Given the description of an element on the screen output the (x, y) to click on. 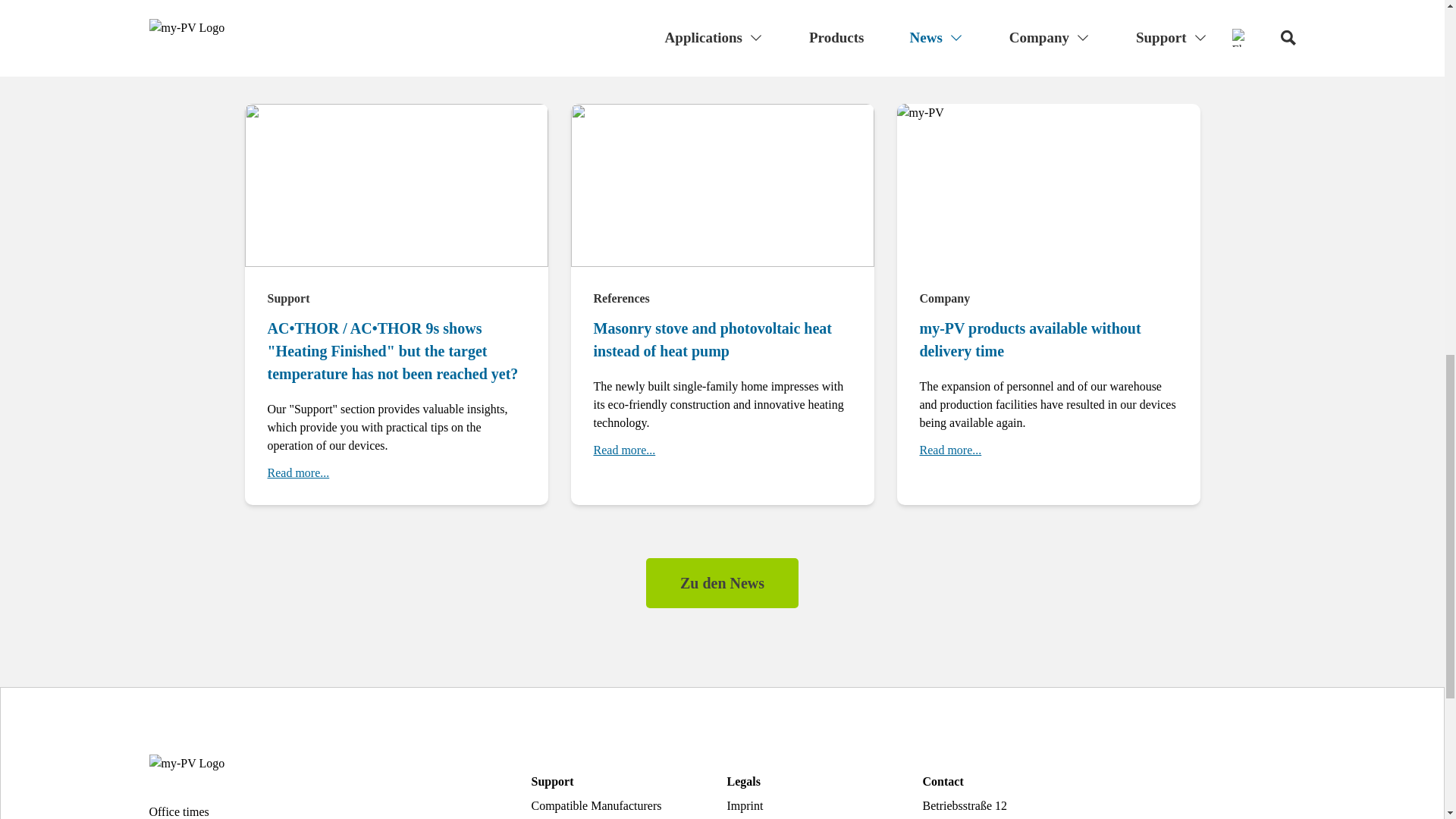
Read more... (949, 450)
Imprint (744, 805)
Compatible Manufacturers (596, 805)
Read more... (297, 473)
Zu den News (721, 582)
Read more... (623, 450)
